Given the description of an element on the screen output the (x, y) to click on. 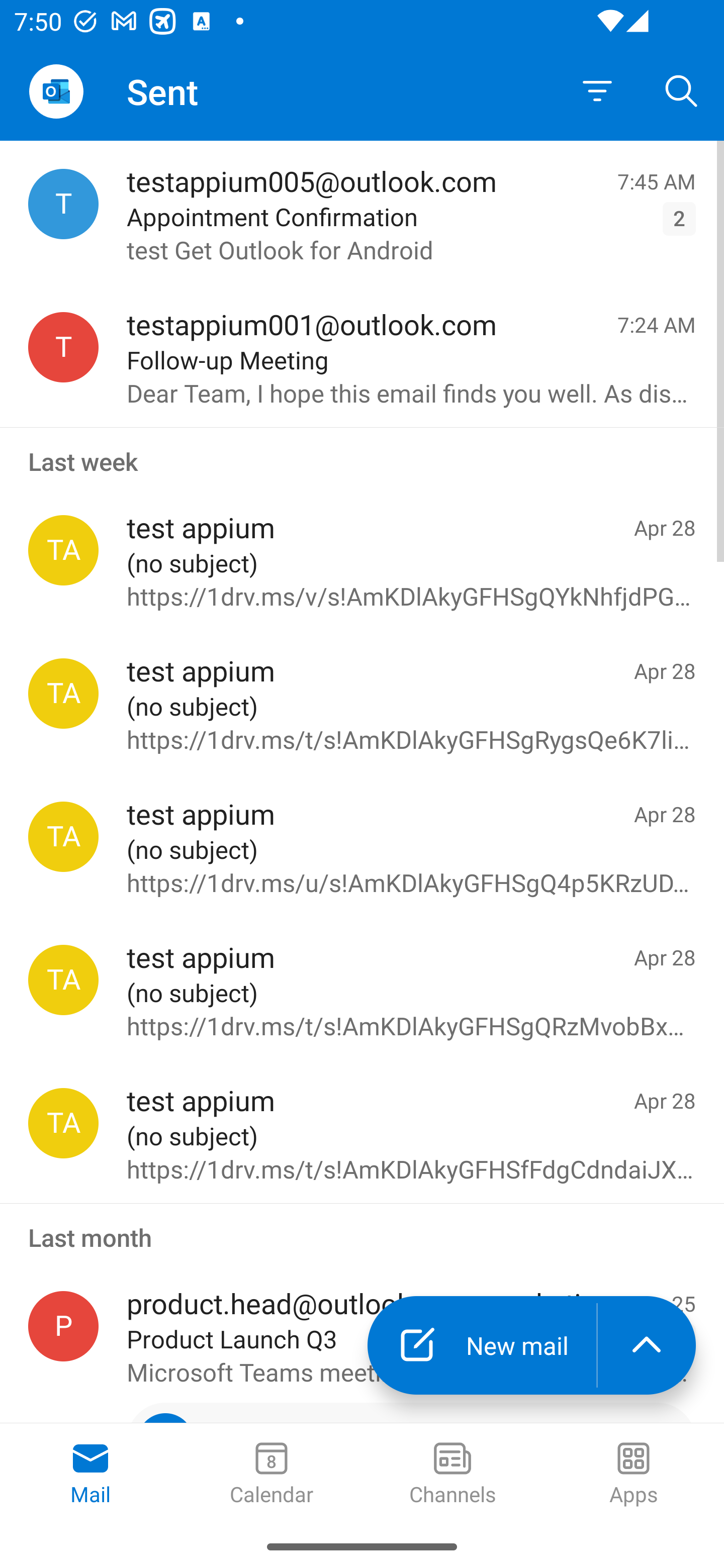
Search, ,  (681, 90)
Open Navigation Drawer (55, 91)
Filter (597, 91)
test appium, testappium002@gmail.com (63, 549)
test appium, testappium002@gmail.com (63, 693)
test appium, testappium002@gmail.com (63, 836)
test appium, testappium002@gmail.com (63, 979)
test appium, testappium002@gmail.com (63, 1123)
product.head@outlook.com, product.head@outlook.com (63, 1325)
New mail (481, 1344)
launch the extended action menu (646, 1344)
Calendar (271, 1474)
Channels (452, 1474)
Apps (633, 1474)
